Given the description of an element on the screen output the (x, y) to click on. 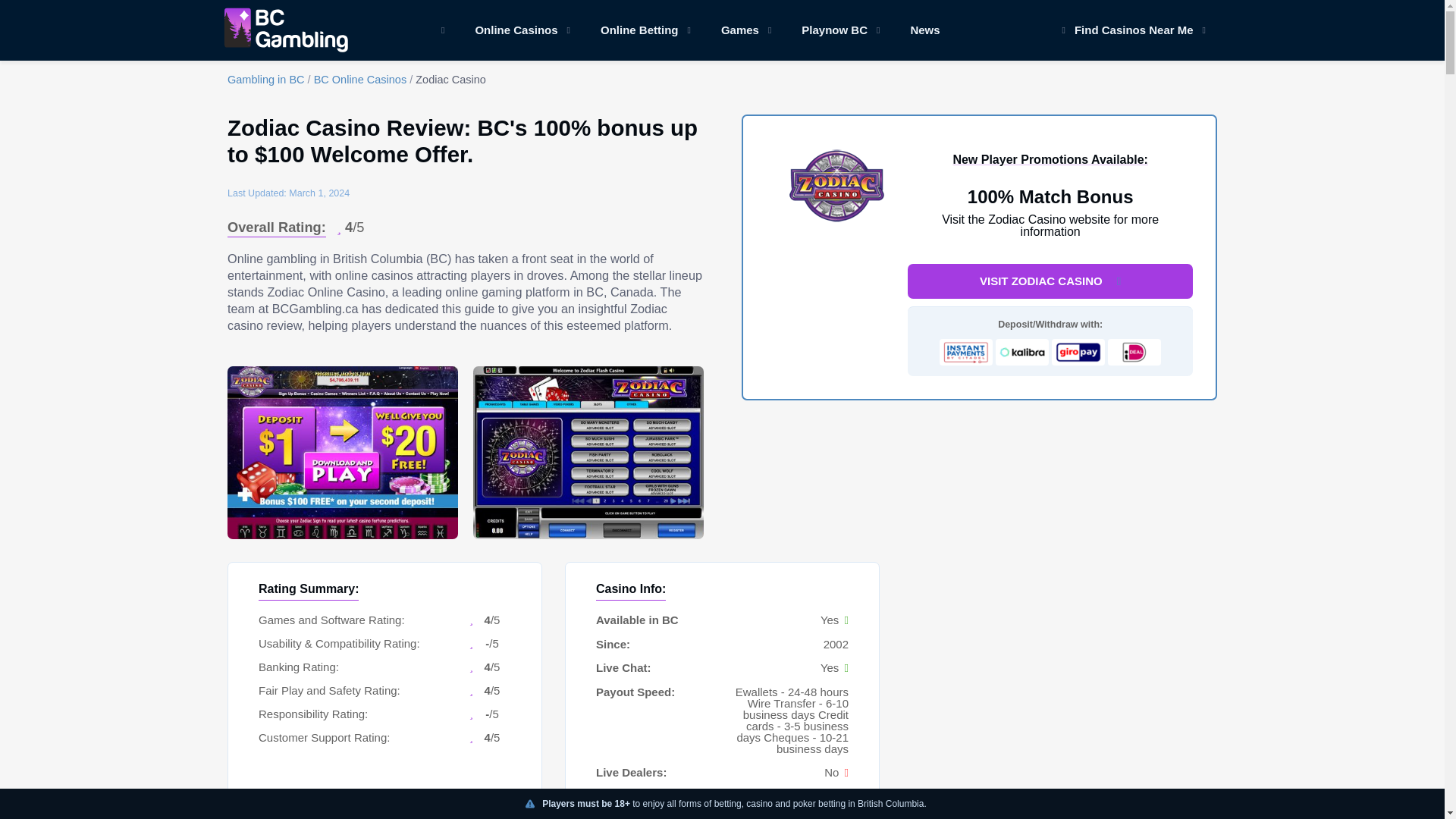
Games (746, 30)
iDeal (1134, 352)
Playnow BC (840, 30)
News (925, 30)
Find Casinos Near Me (1129, 30)
Instant Banking By Citadel (965, 352)
Kalibra Card (1021, 352)
Giropay (1078, 352)
Online Betting (645, 30)
Online Casinos (522, 30)
